Given the description of an element on the screen output the (x, y) to click on. 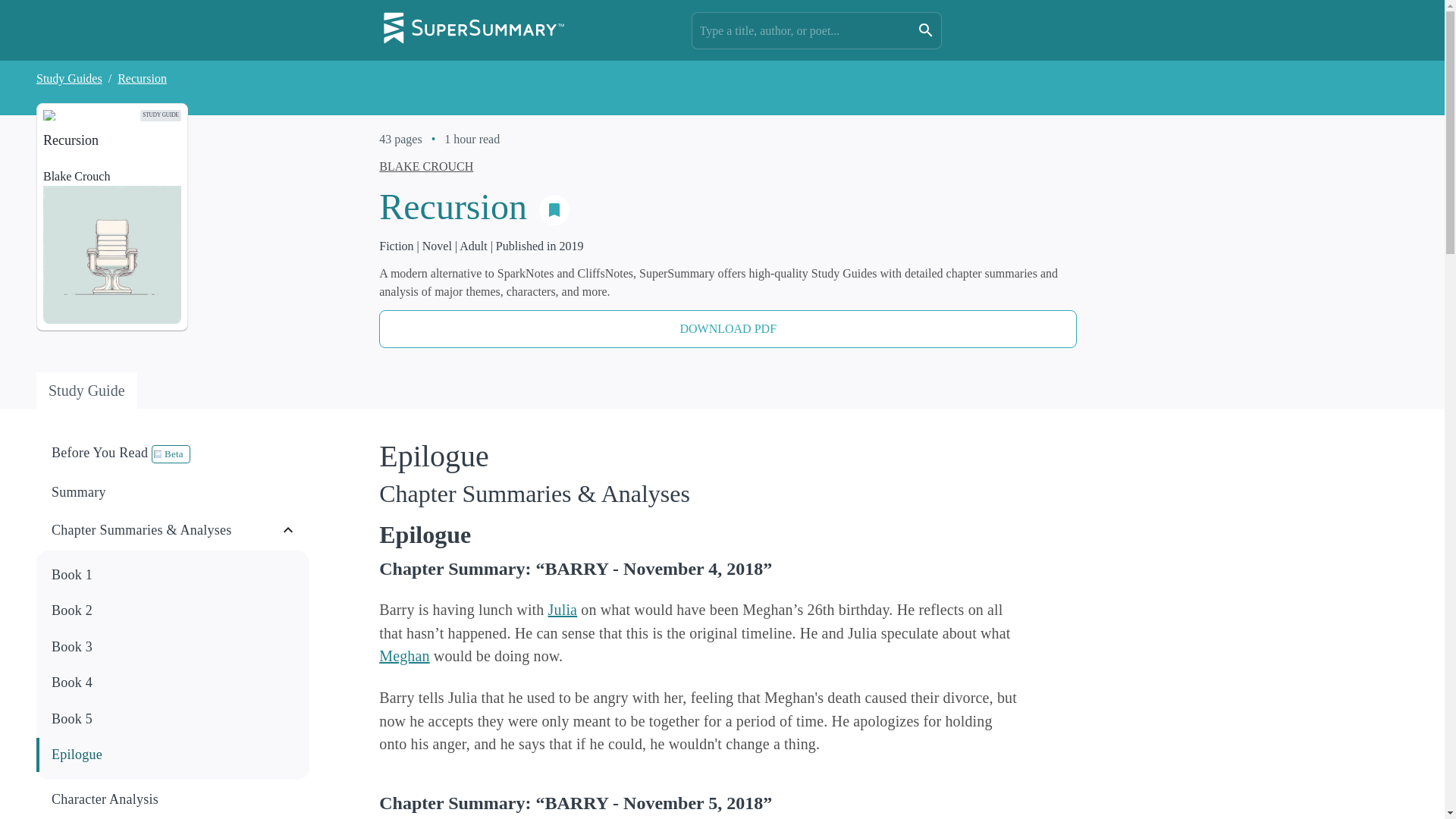
BLAKE CROUCH (425, 165)
Summary (172, 492)
Book 5 (172, 718)
Meghan (403, 655)
Search (925, 30)
Book 1 (172, 574)
Book 3 (172, 646)
Book 4 (172, 682)
Study Guides (68, 78)
Epilogue (172, 754)
Character Analysis (173, 799)
Book 3 (173, 647)
Book 5 (173, 719)
Book 2 (173, 610)
Study Guide (86, 390)
